Given the description of an element on the screen output the (x, y) to click on. 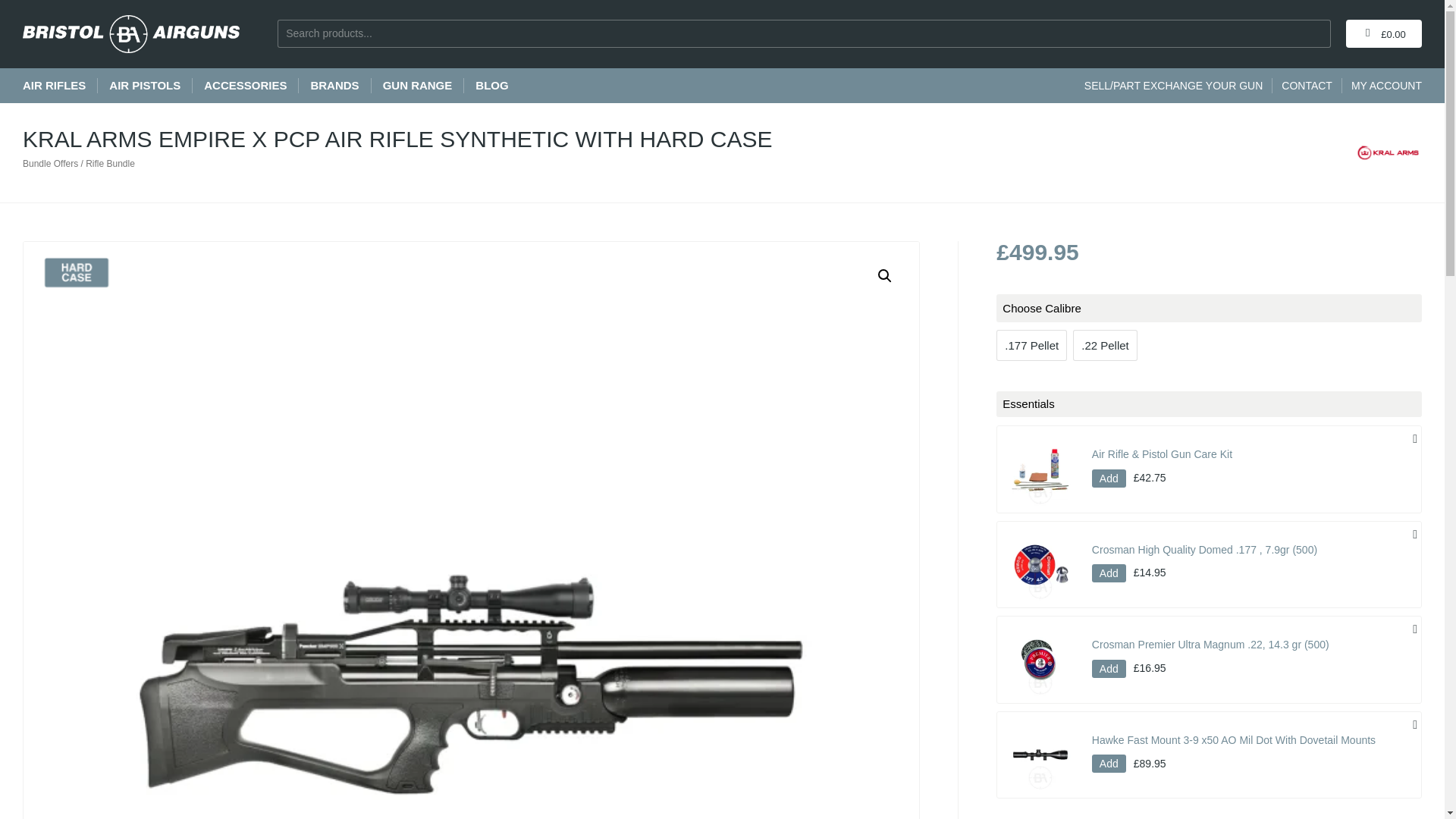
Bundle Offers (50, 163)
BRANDS (334, 85)
Add (1108, 573)
AIR PISTOLS (144, 85)
Kral Arms Empire X PCP Air Rifle Synthetic With Hard Case 1 (76, 272)
AIR RIFLES (54, 85)
MY ACCOUNT (1386, 85)
Add (1108, 478)
GUN RANGE (417, 85)
CONTACT (1306, 85)
ACCESSORIES (244, 85)
Rifle Bundle (110, 163)
BLOG (492, 85)
